Given the description of an element on the screen output the (x, y) to click on. 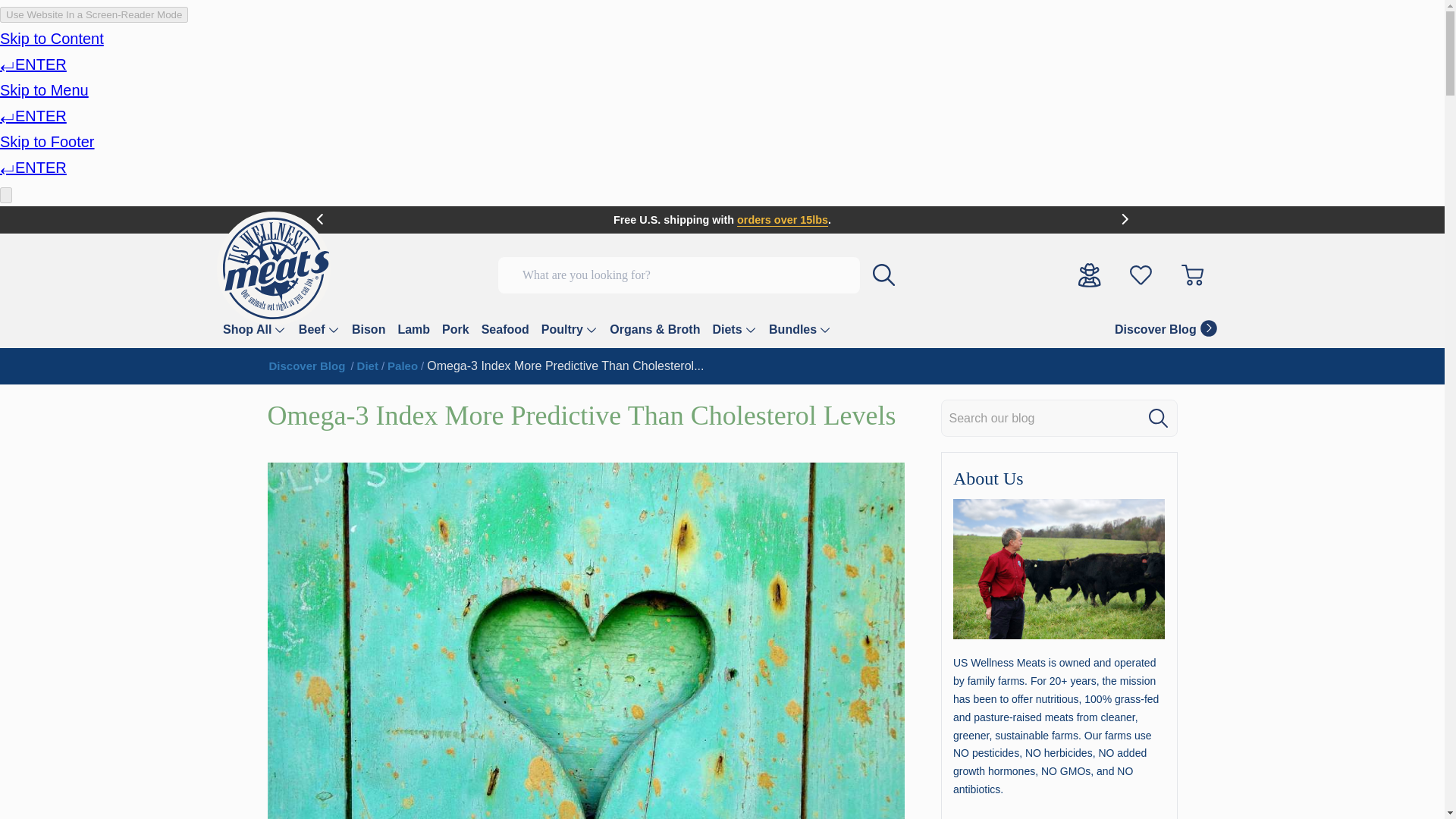
Paleo (402, 365)
orders over 15lbs (782, 219)
Category Name (367, 365)
John Wood (1058, 568)
Omega-3 Index More Predictive Than Cholesterol Levels (564, 365)
